Given the description of an element on the screen output the (x, y) to click on. 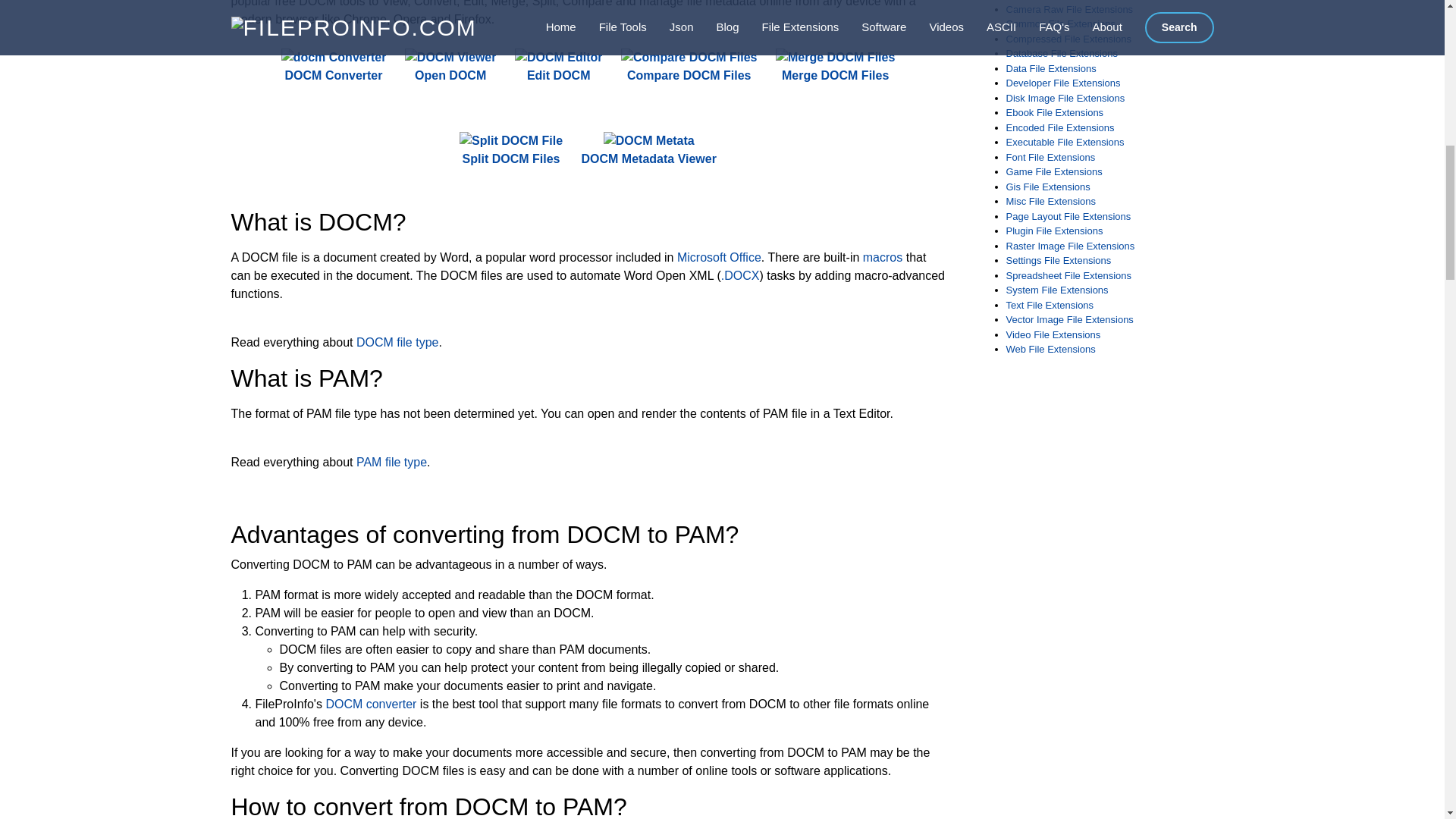
DOCM Converter (334, 66)
DOCM converter (370, 703)
Compare DOCM Files (689, 66)
DOCM file type (397, 341)
Merge DOCM Files (835, 66)
DOCM Viewer, open DOCM file online and free. (450, 66)
Microsoft Office (719, 256)
DOCM Metadata Viewer (648, 150)
.DOCX (740, 275)
docm Converter online free (334, 57)
Split DOCM Files (511, 150)
Edit DOCM (558, 66)
DOCM Converter. (334, 66)
macros (882, 256)
Open DOCM (450, 66)
